Given the description of an element on the screen output the (x, y) to click on. 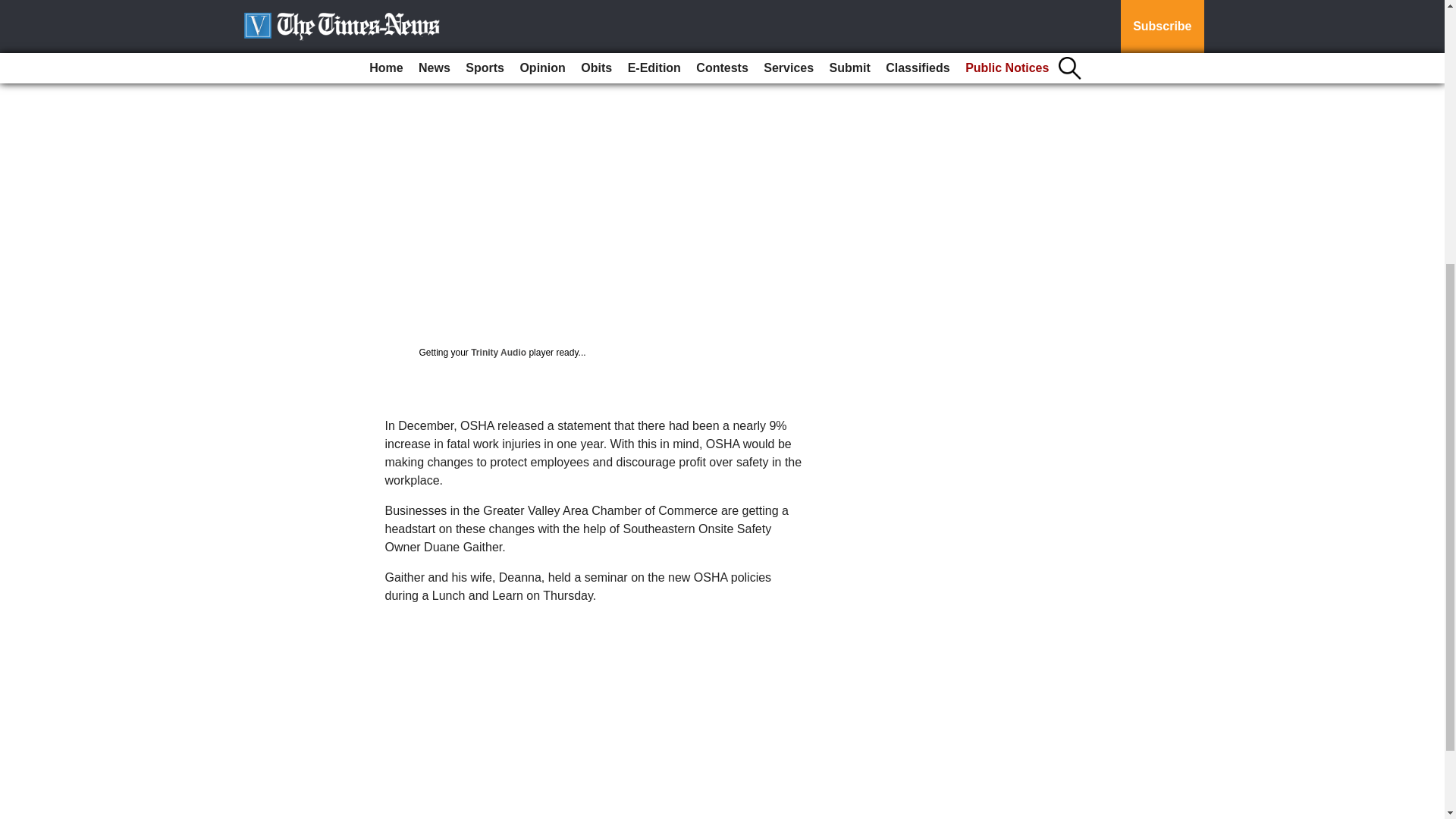
Trinity Audio (497, 352)
Charlotte Reames (403, 30)
